Given the description of an element on the screen output the (x, y) to click on. 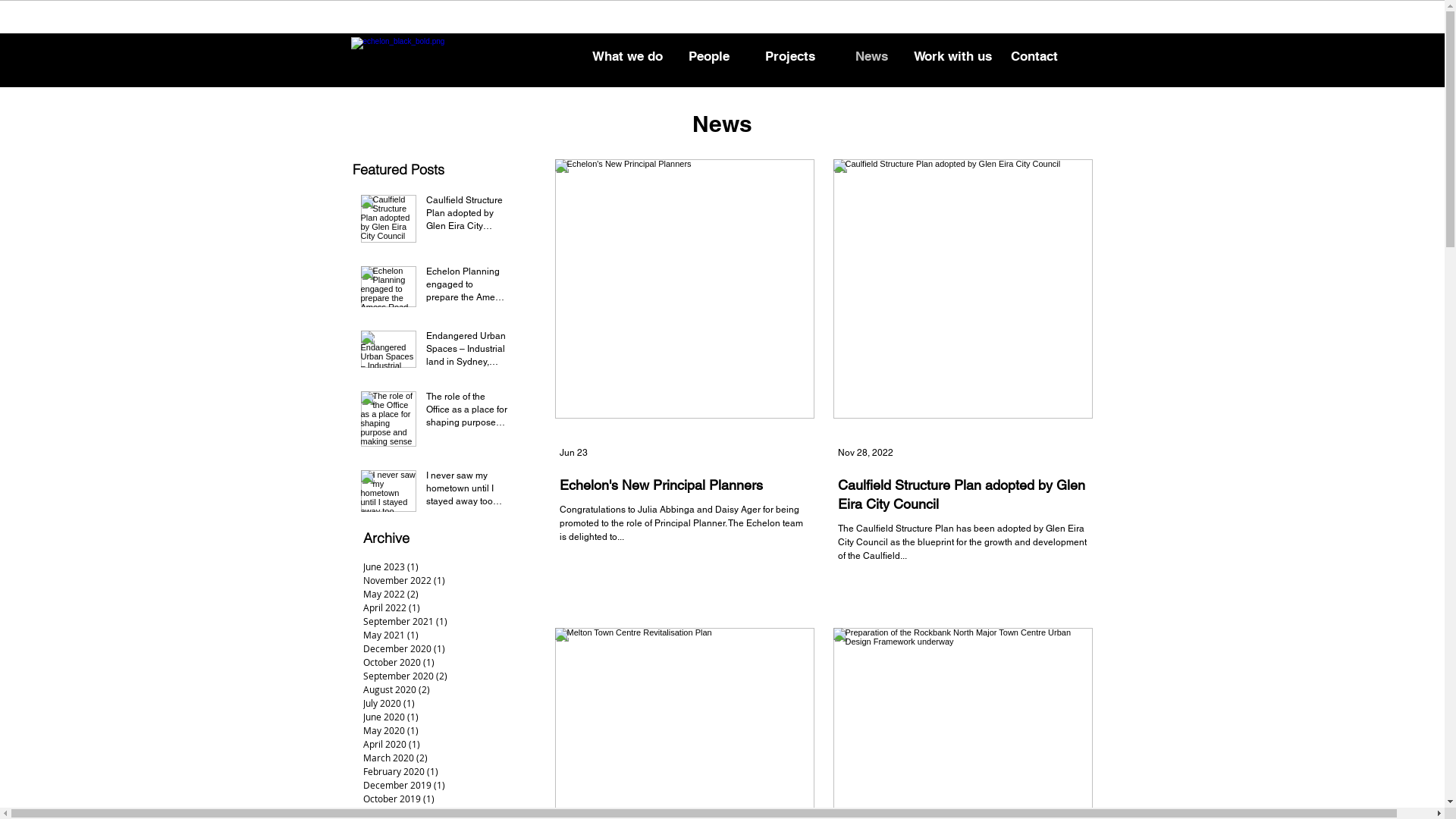
December 2019 (1) Element type: text (445, 784)
Projects Element type: text (789, 56)
November 2022 (1) Element type: text (445, 579)
May 2022 (2) Element type: text (445, 593)
June 2023 (1) Element type: text (445, 566)
News Element type: text (871, 56)
May 2021 (1) Element type: text (445, 634)
I never saw my hometown until I stayed away too long.... Element type: text (466, 491)
April 2020 (1) Element type: text (445, 743)
Work with us Element type: text (951, 56)
September 2021 (1) Element type: text (445, 620)
September 2020 (2) Element type: text (445, 675)
Caulfield Structure Plan adopted by Glen Eira City Council Element type: text (962, 494)
What we do Element type: text (627, 56)
Contact Element type: text (1033, 56)
February 2020 (1) Element type: text (445, 771)
July 2020 (1) Element type: text (445, 702)
December 2020 (1) Element type: text (445, 648)
August 2020 (2) Element type: text (445, 689)
October 2020 (1) Element type: text (445, 661)
May 2020 (1) Element type: text (445, 730)
People Element type: text (708, 56)
March 2020 (2) Element type: text (445, 757)
Caulfield Structure Plan adopted by Glen Eira City Council Element type: text (466, 216)
Echelon's New Principal Planners Element type: text (684, 484)
June 2020 (1) Element type: text (445, 716)
October 2019 (1) Element type: text (445, 798)
April 2022 (1) Element type: text (445, 607)
